Given the description of an element on the screen output the (x, y) to click on. 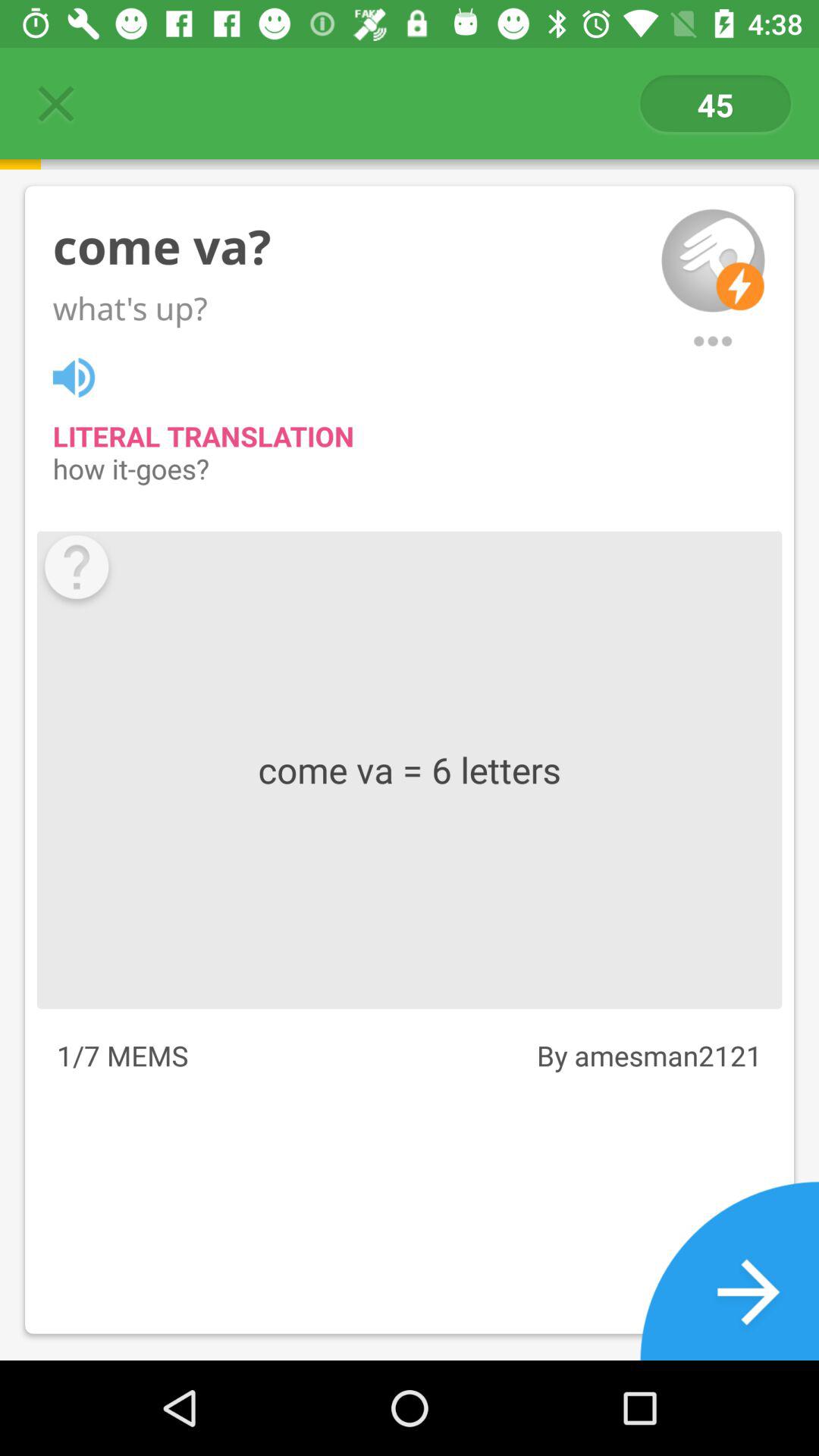
play audio clip of translation (81, 375)
